Given the description of an element on the screen output the (x, y) to click on. 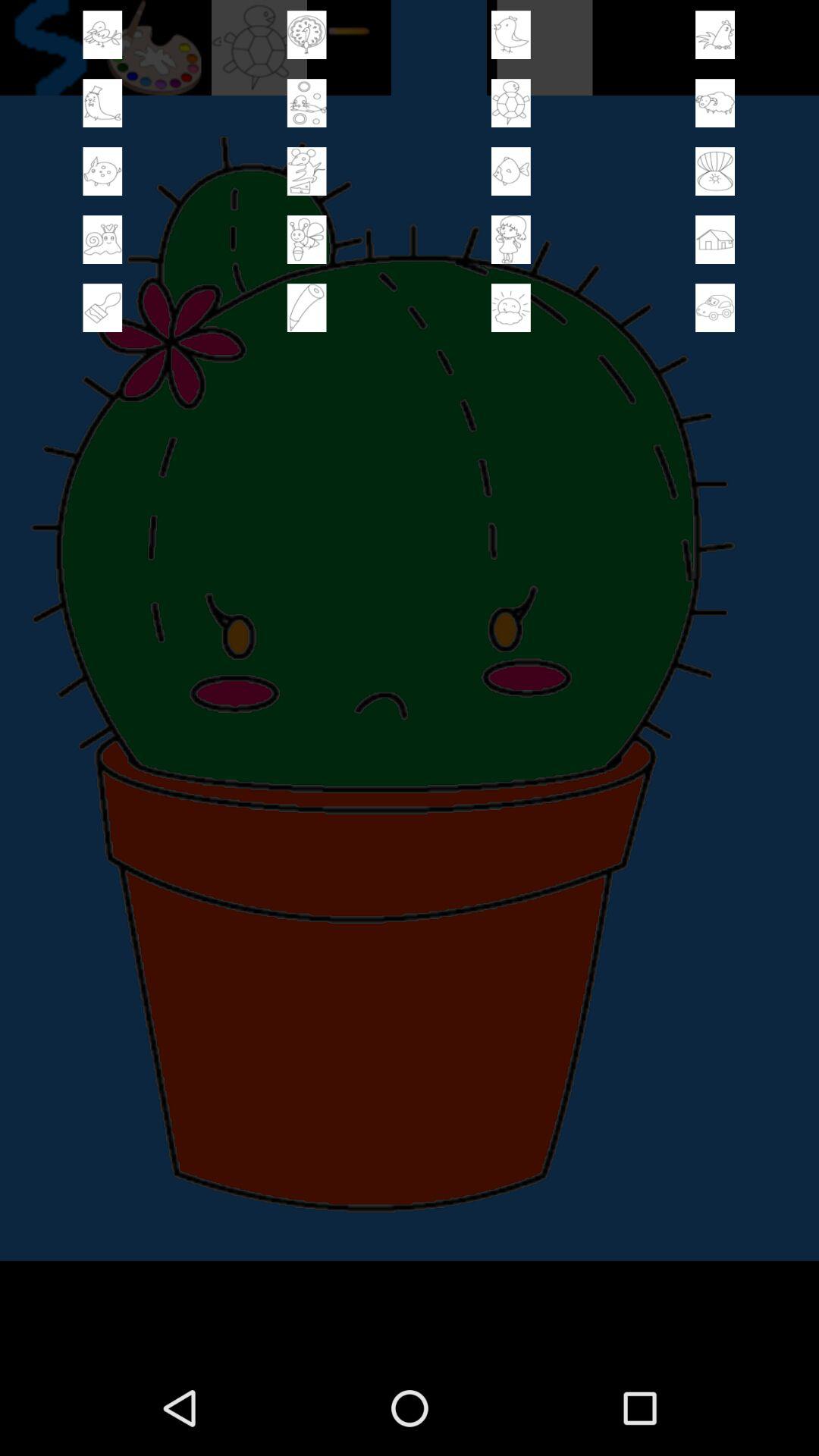
click to select this page (715, 103)
